Given the description of an element on the screen output the (x, y) to click on. 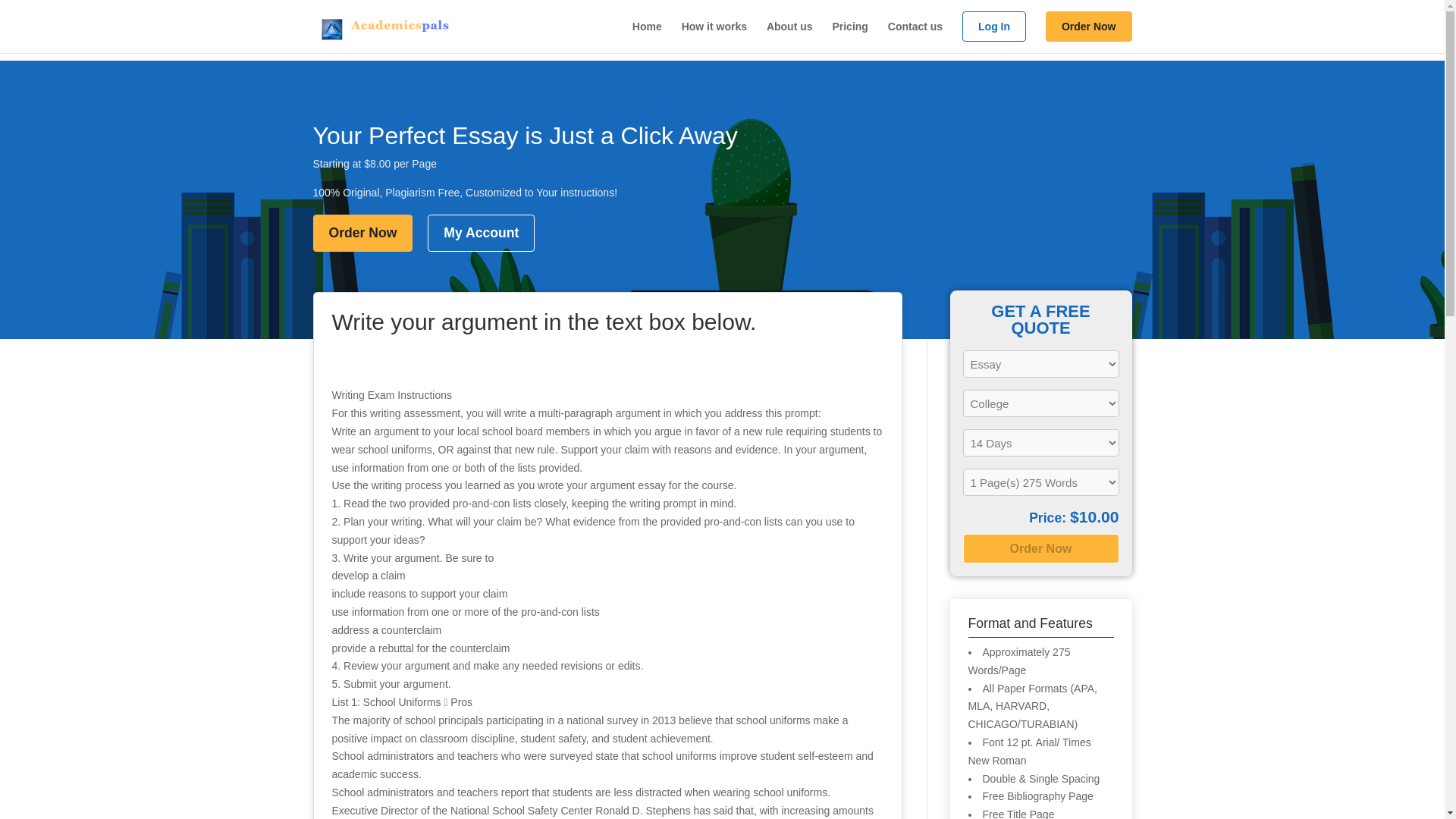
About us (789, 32)
Pricing (849, 32)
How it works (713, 32)
Contact us (915, 32)
Home (646, 32)
Log In (994, 32)
My Account (481, 233)
Order Now (1088, 32)
Order Now (1040, 548)
Order Now (362, 233)
